Given the description of an element on the screen output the (x, y) to click on. 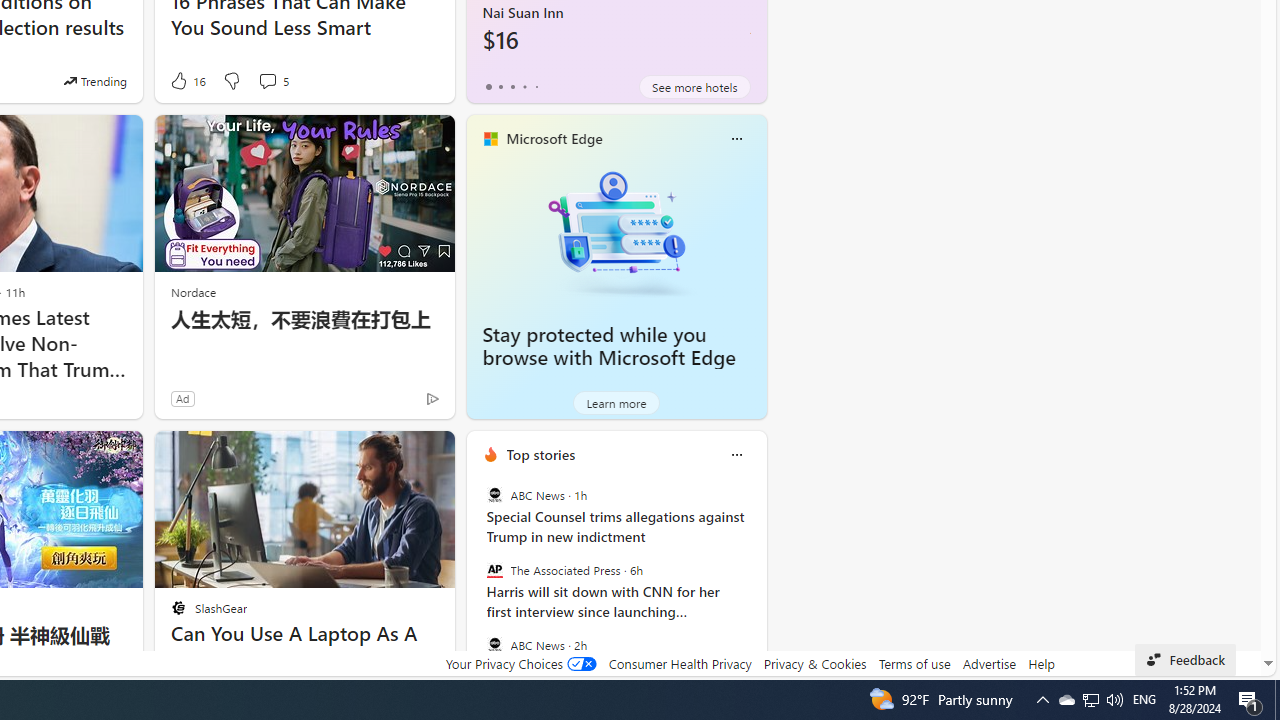
Stay protected while you browse with Microsoft Edge (616, 232)
Your Privacy Choices (520, 663)
16 Like (186, 80)
Hide this story (393, 454)
tab-4 (535, 86)
Top stories (540, 454)
Microsoft Edge (553, 139)
Consumer Health Privacy (680, 663)
Learn more (616, 402)
